Given the description of an element on the screen output the (x, y) to click on. 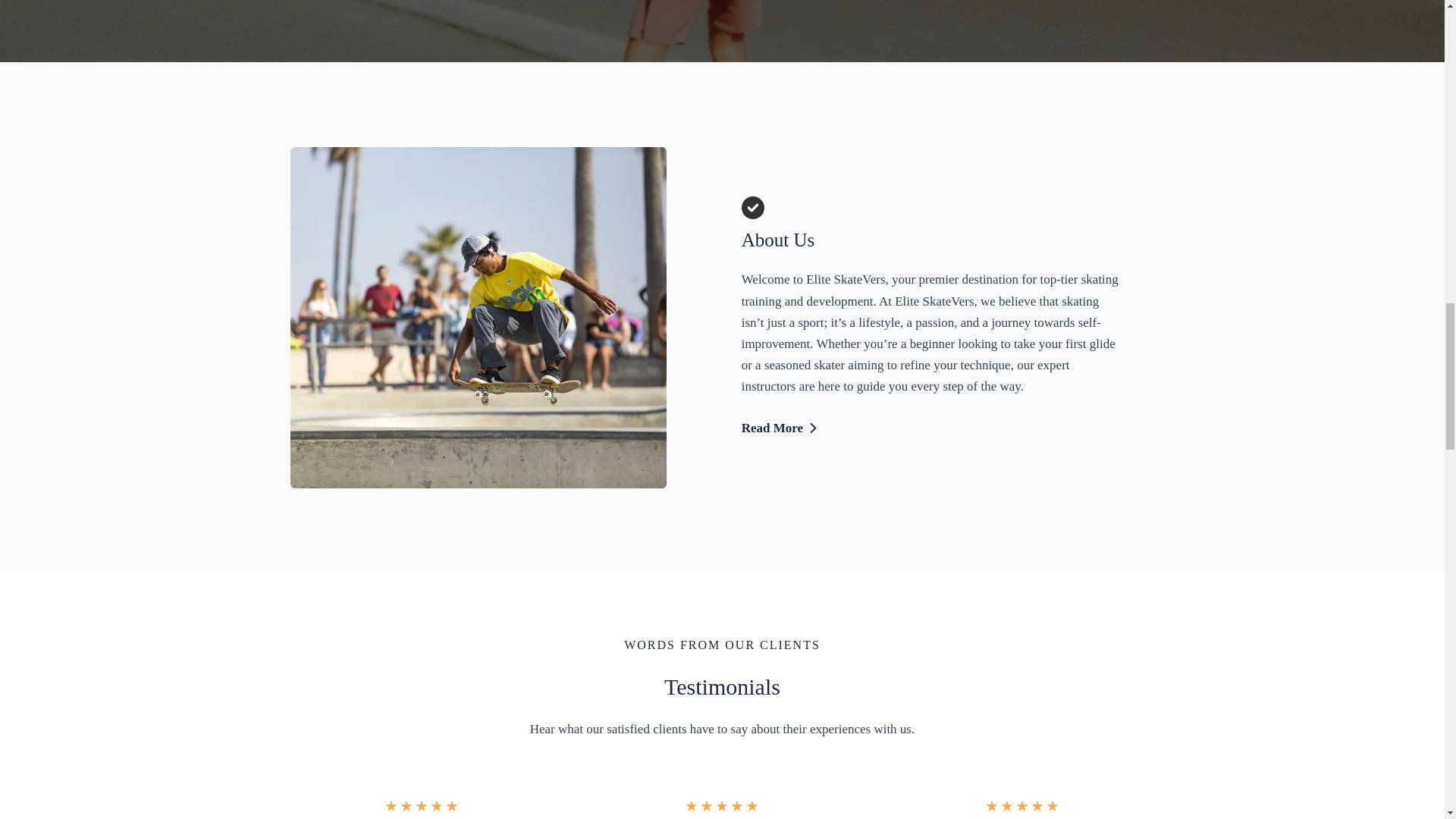
Read More (779, 427)
skateboarding statistics (477, 317)
